Given the description of an element on the screen output the (x, y) to click on. 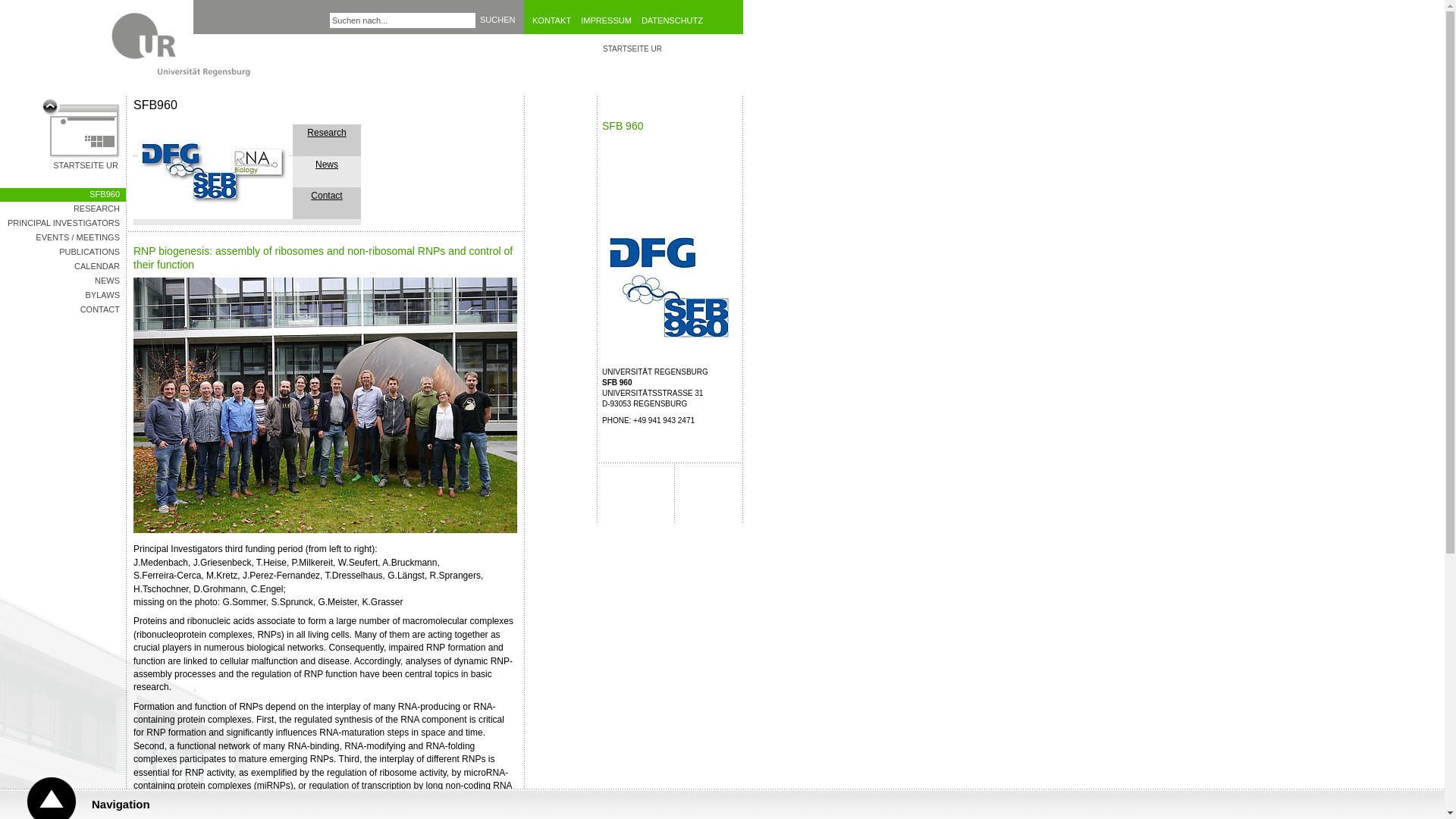
Suchbegriff (403, 20)
Impressum (324, 174)
suchen (609, 20)
STARTSEITE UR (497, 19)
BYLAWS (81, 135)
suchen (62, 295)
suchen (497, 19)
Suchen nach... (497, 19)
suchen (403, 20)
KONTAKT (497, 19)
Research (555, 20)
RESEARCH (326, 132)
Contact (62, 209)
SFB960 (326, 195)
